Given the description of an element on the screen output the (x, y) to click on. 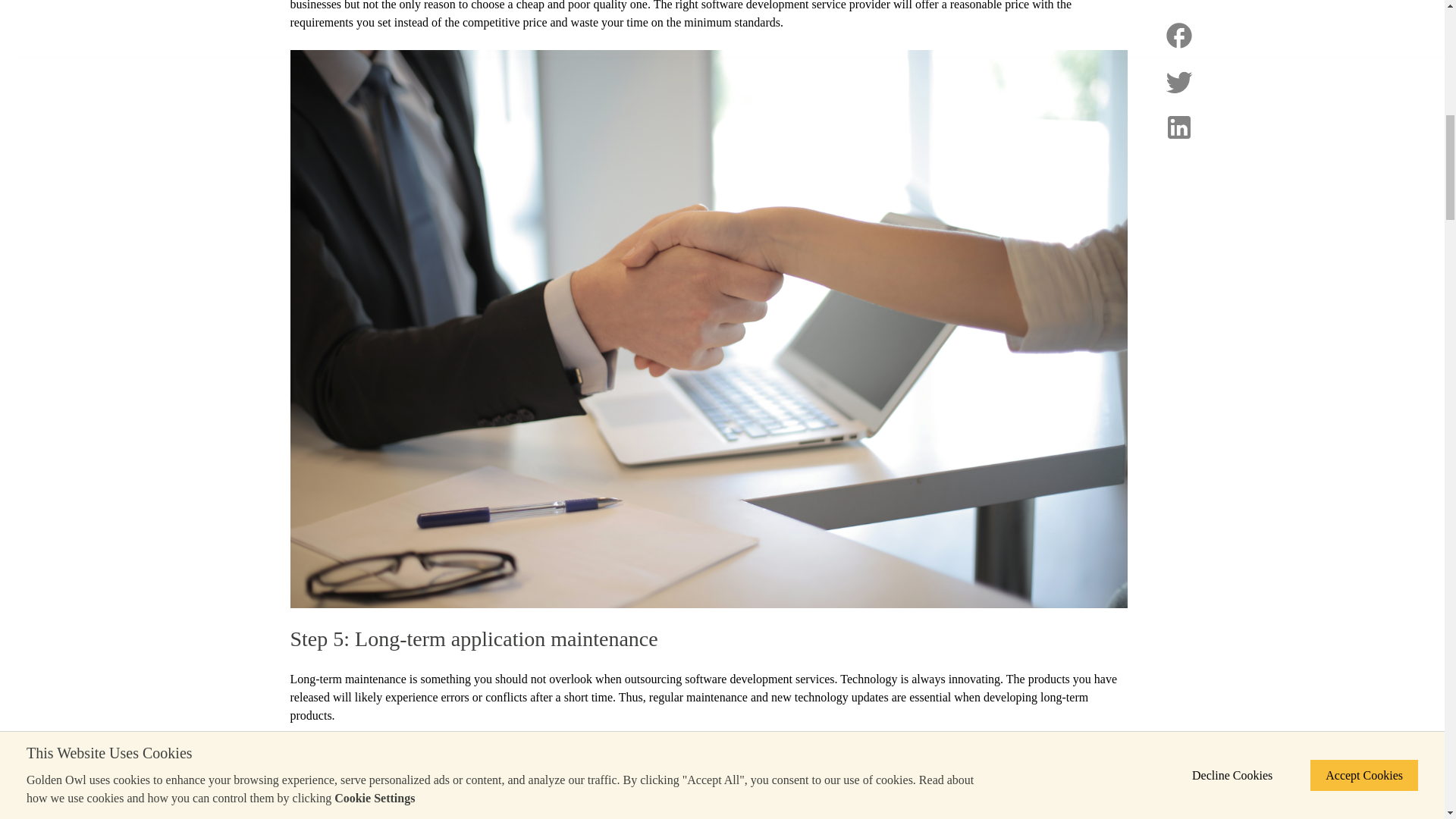
software development working process (527, 794)
